Given the description of an element on the screen output the (x, y) to click on. 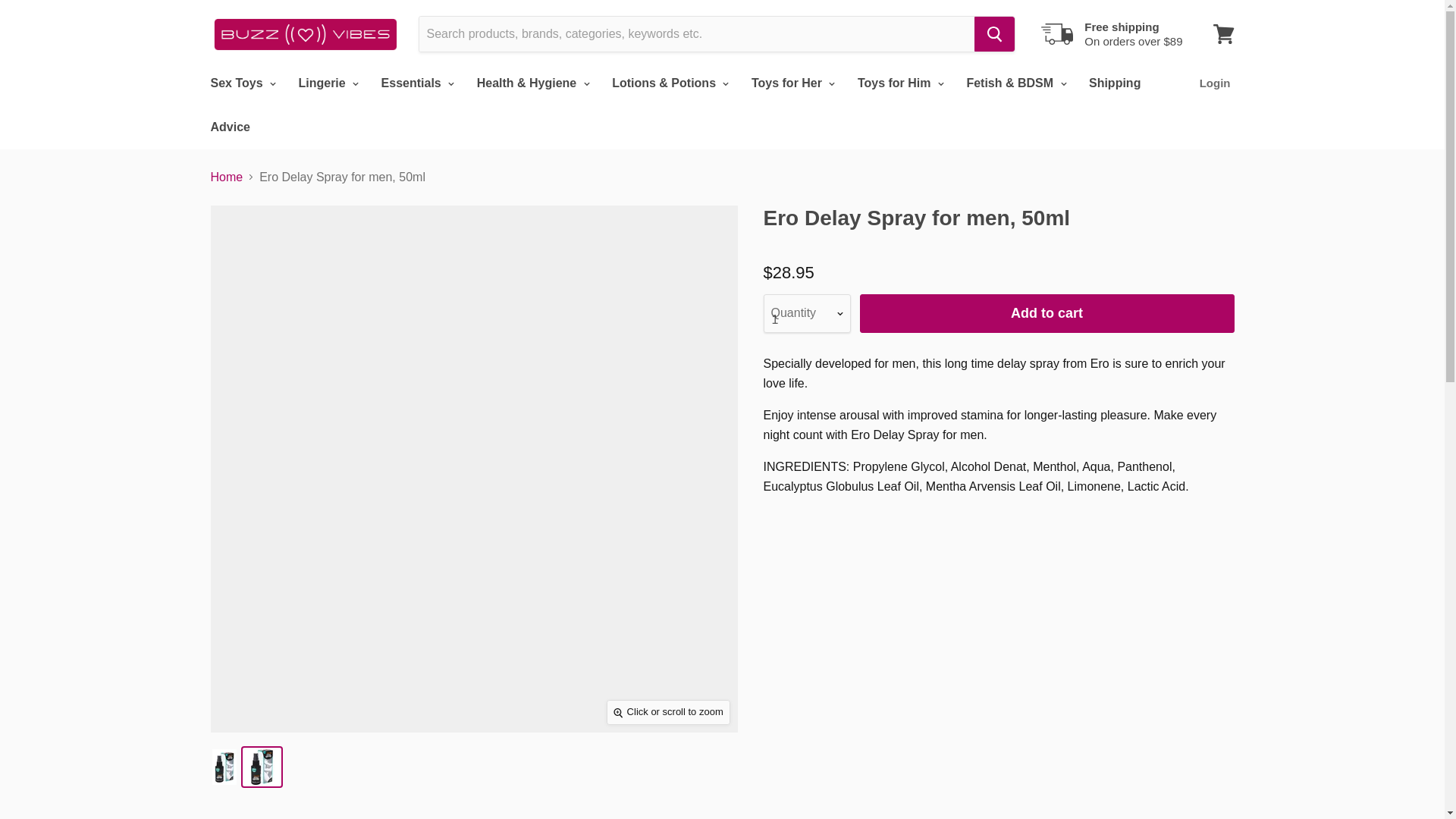
Lingerie (326, 83)
View cart (1223, 33)
Sex Toys (240, 83)
